Given the description of an element on the screen output the (x, y) to click on. 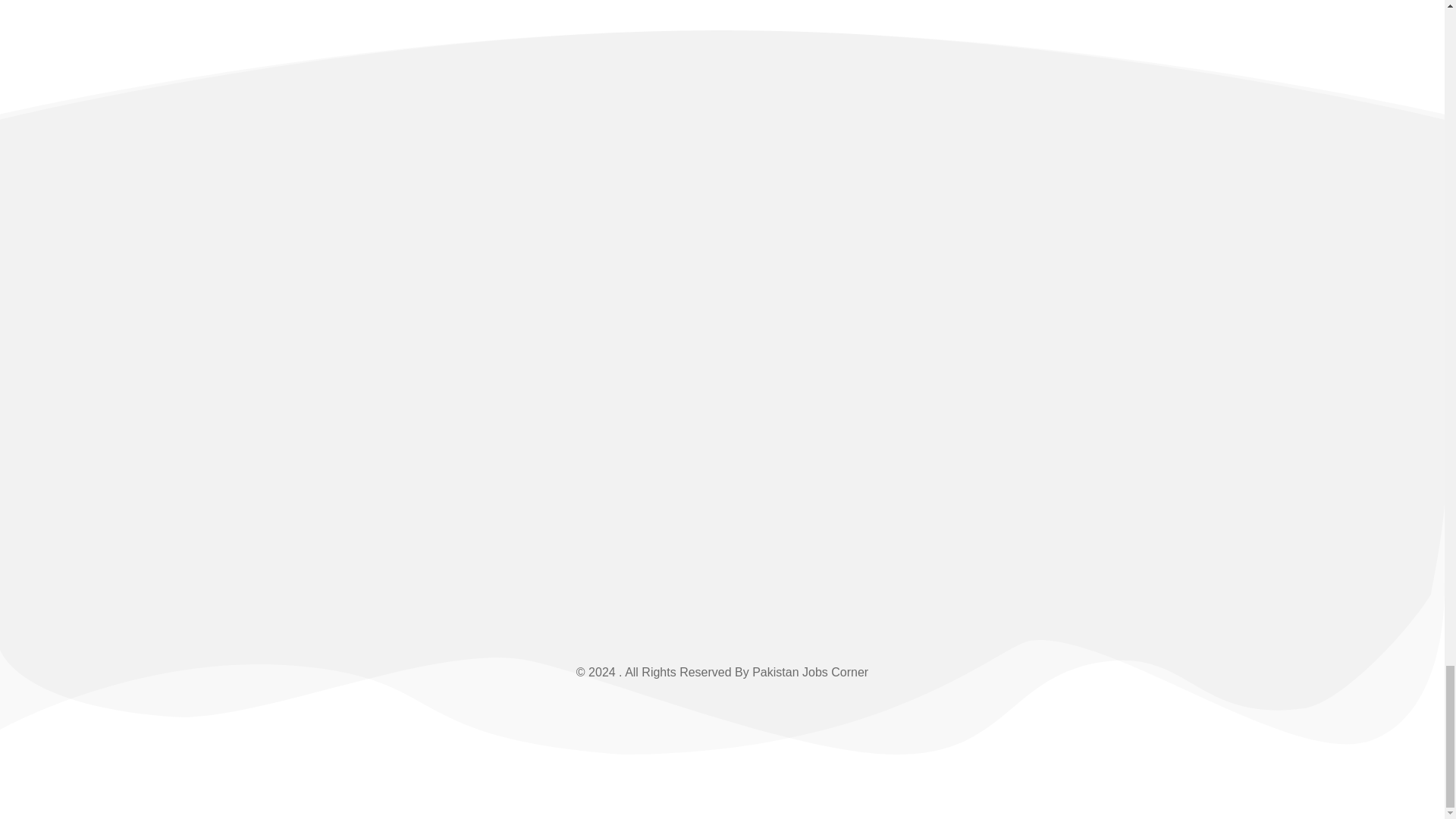
SUBMIT (1253, 391)
